Given the description of an element on the screen output the (x, y) to click on. 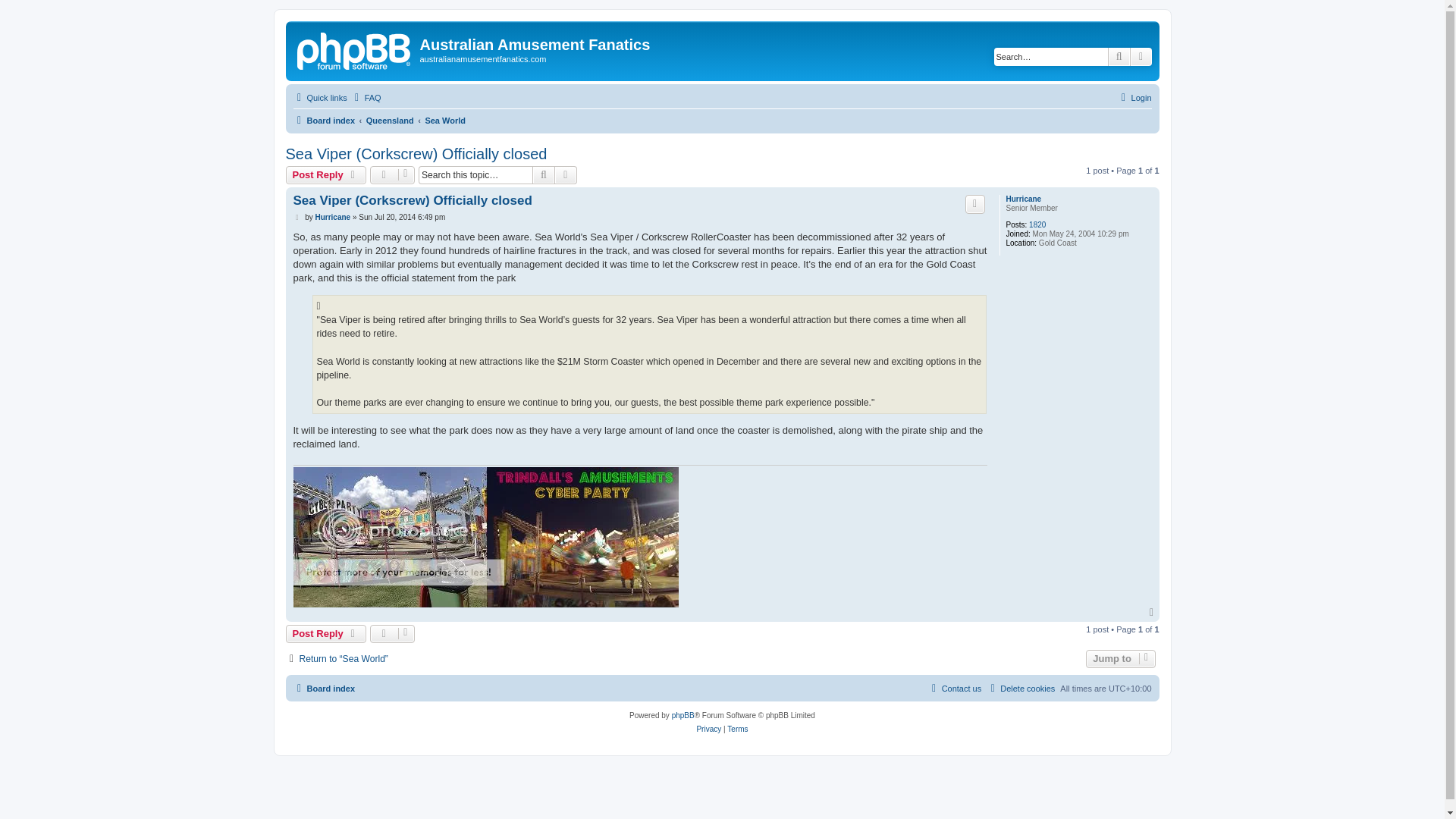
Topic tools (391, 175)
Queensland (389, 120)
Top (1151, 612)
Reply with quote (975, 203)
Advanced search (565, 175)
Sea World (445, 120)
Search (543, 175)
Frequently Asked Questions (365, 97)
1820 (1037, 225)
Advanced search (565, 175)
